Given the description of an element on the screen output the (x, y) to click on. 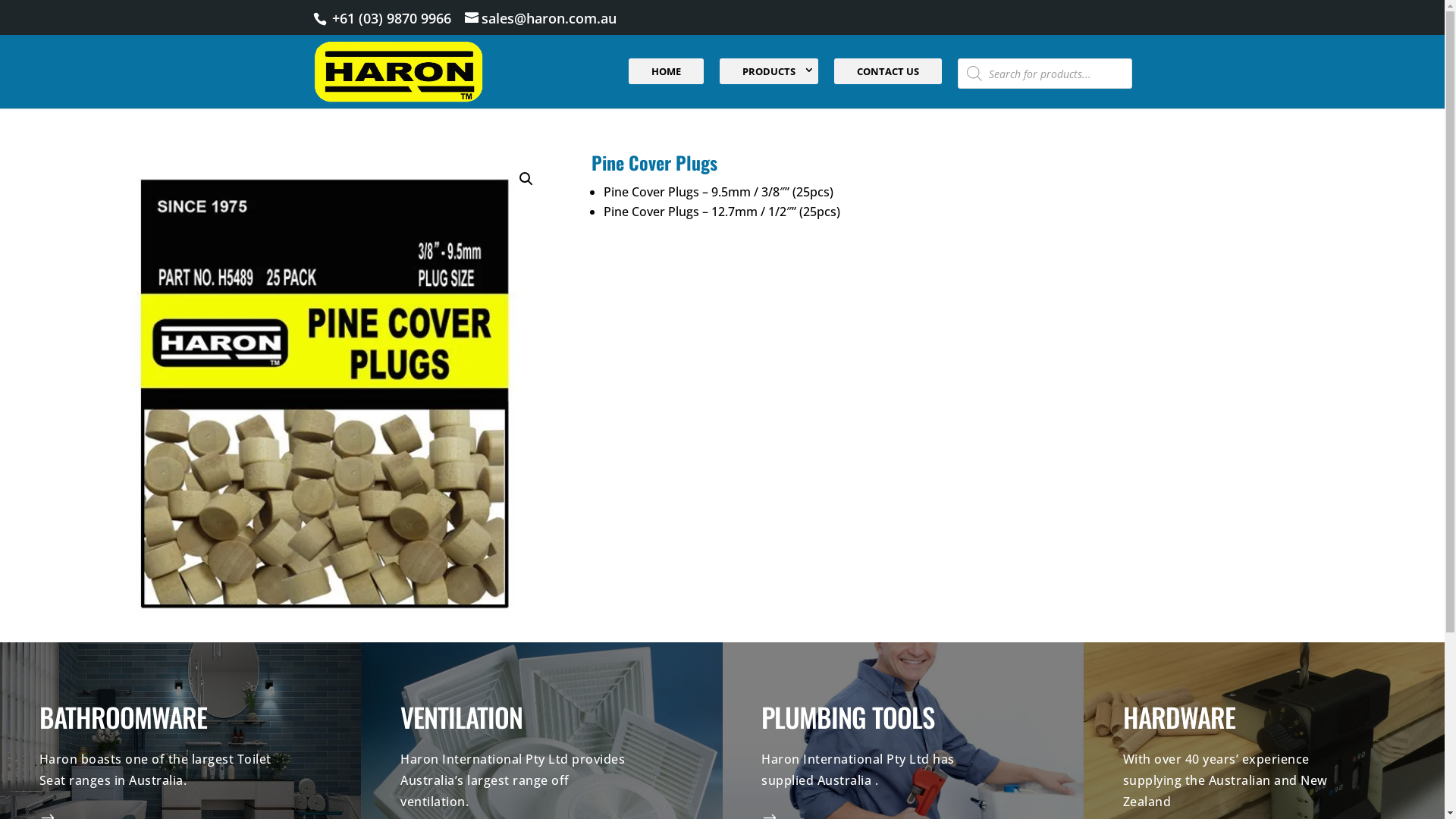
VENTILATION Element type: text (461, 716)
HARDWARE Element type: text (1179, 716)
PLUMBING TOOLS Element type: text (847, 716)
Pine Cover Plugs Element type: hover (315, 389)
sales@haron.com.au Element type: text (539, 18)
CONTACT US Element type: text (887, 71)
BATHROOMWARE Element type: text (123, 716)
PRODUCTS Element type: text (768, 71)
HOME Element type: text (665, 71)
